Given the description of an element on the screen output the (x, y) to click on. 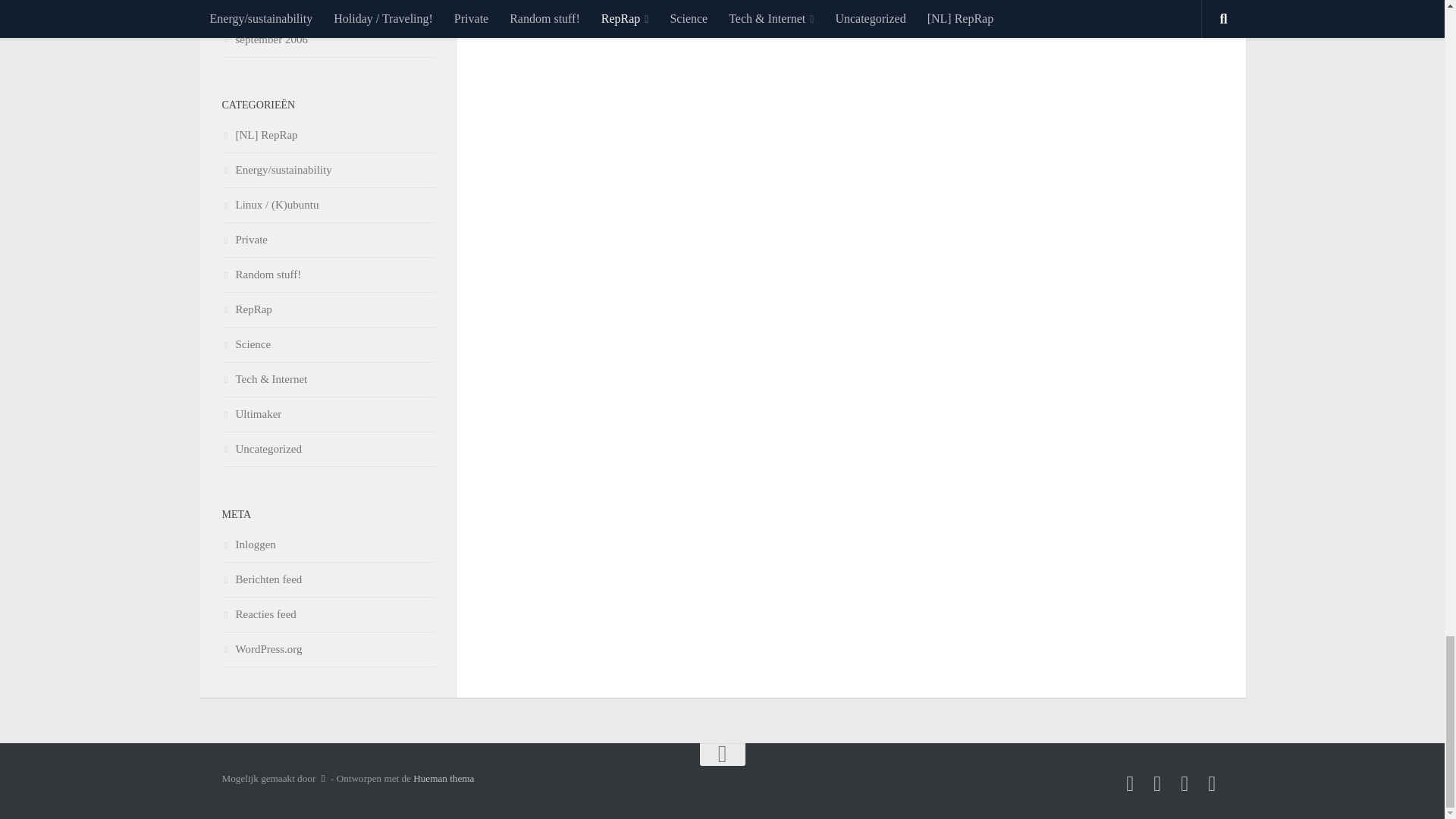
Follow us on Twitter (1129, 783)
Hueman thema (443, 778)
Aangedreven door WordPress (323, 777)
